Given the description of an element on the screen output the (x, y) to click on. 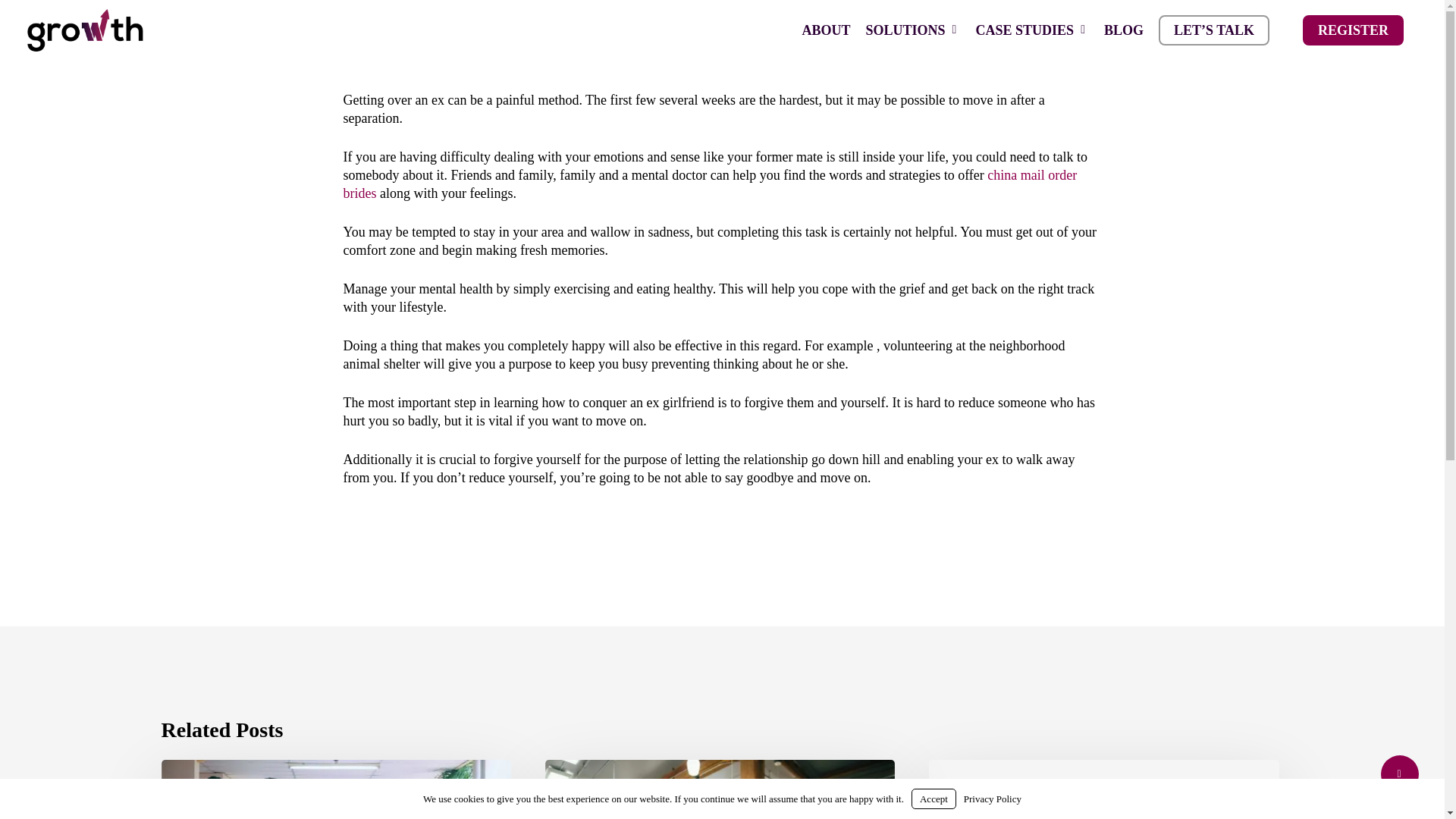
Evolving the Workplace Through Rebellious Trends (335, 789)
china mail order brides (709, 183)
REGISTER (1353, 29)
BLOG (1123, 29)
CASE STUDIES (1032, 30)
SOLUTIONS (912, 30)
ABOUT (825, 29)
General (968, 785)
The Construction of a Good Essay (1103, 789)
